Given the description of an element on the screen output the (x, y) to click on. 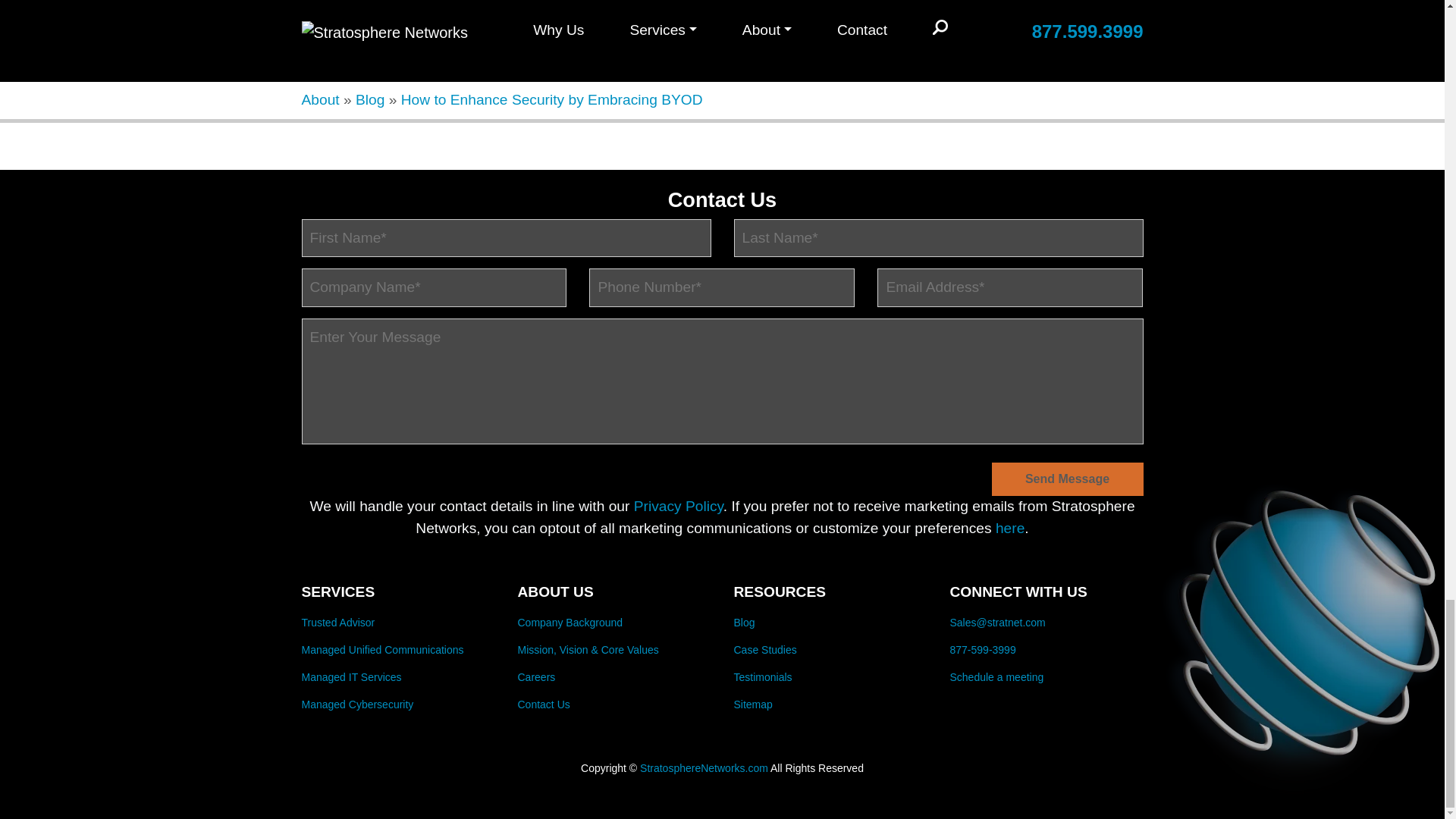
Phone Number (721, 287)
Email Address (1009, 287)
Last Name (937, 238)
Company Name (434, 287)
First Name (506, 238)
Message (721, 381)
